Given the description of an element on the screen output the (x, y) to click on. 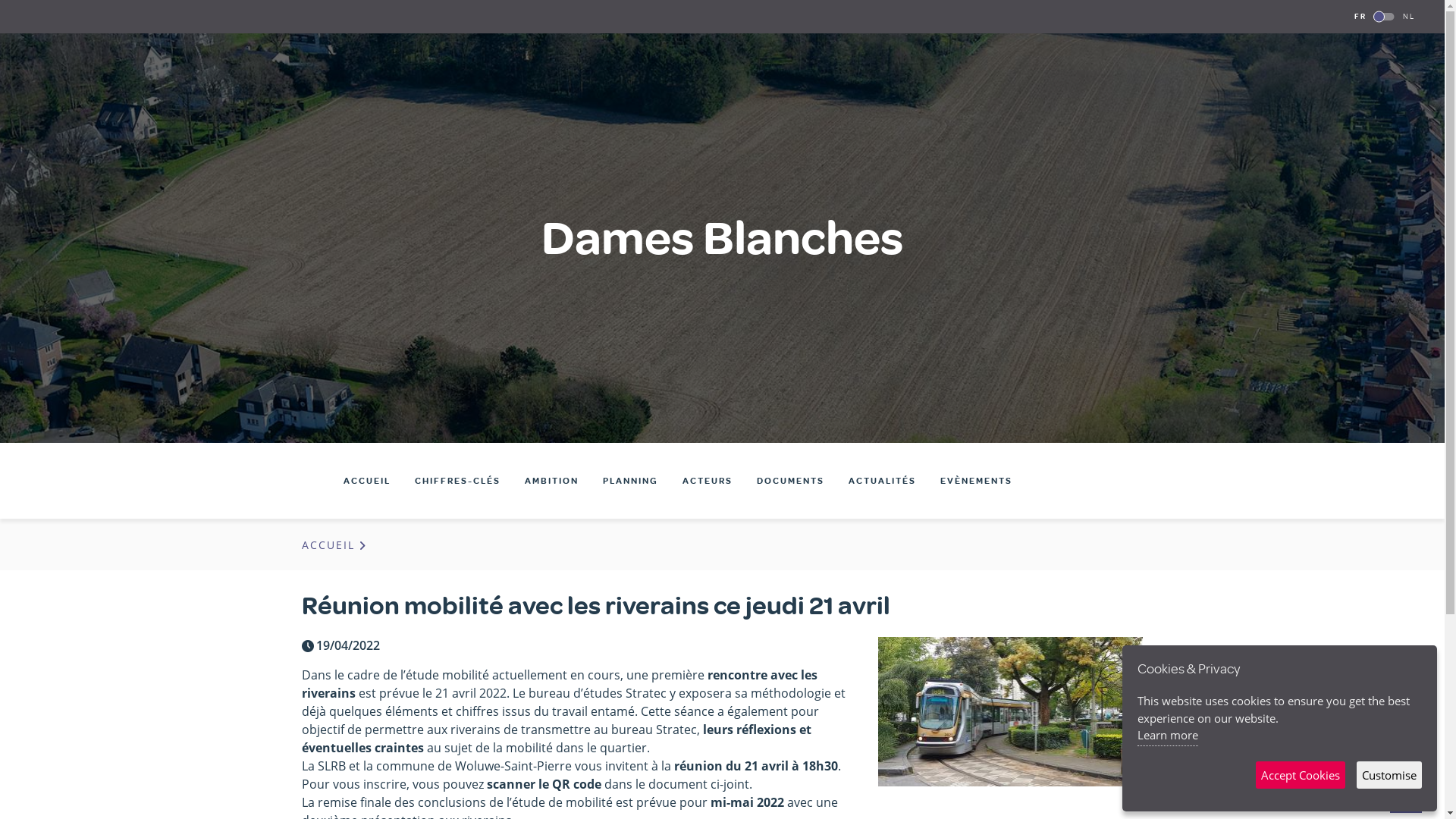
ACCUEIL Element type: text (365, 480)
Customise Element type: text (1388, 775)
DOCUMENTS Element type: text (790, 480)
PLANNING Element type: text (629, 480)
AMBITION Element type: text (551, 480)
ACCUEIL Element type: text (335, 544)
Back to top Element type: text (1405, 800)
Aller au contenu principal Element type: text (0, 0)
Accept Cookies Element type: text (1300, 775)
ACTEURS Element type: text (707, 480)
FR Element type: text (1360, 16)
Learn more Element type: text (1167, 736)
NL Element type: text (1408, 16)
